Given the description of an element on the screen output the (x, y) to click on. 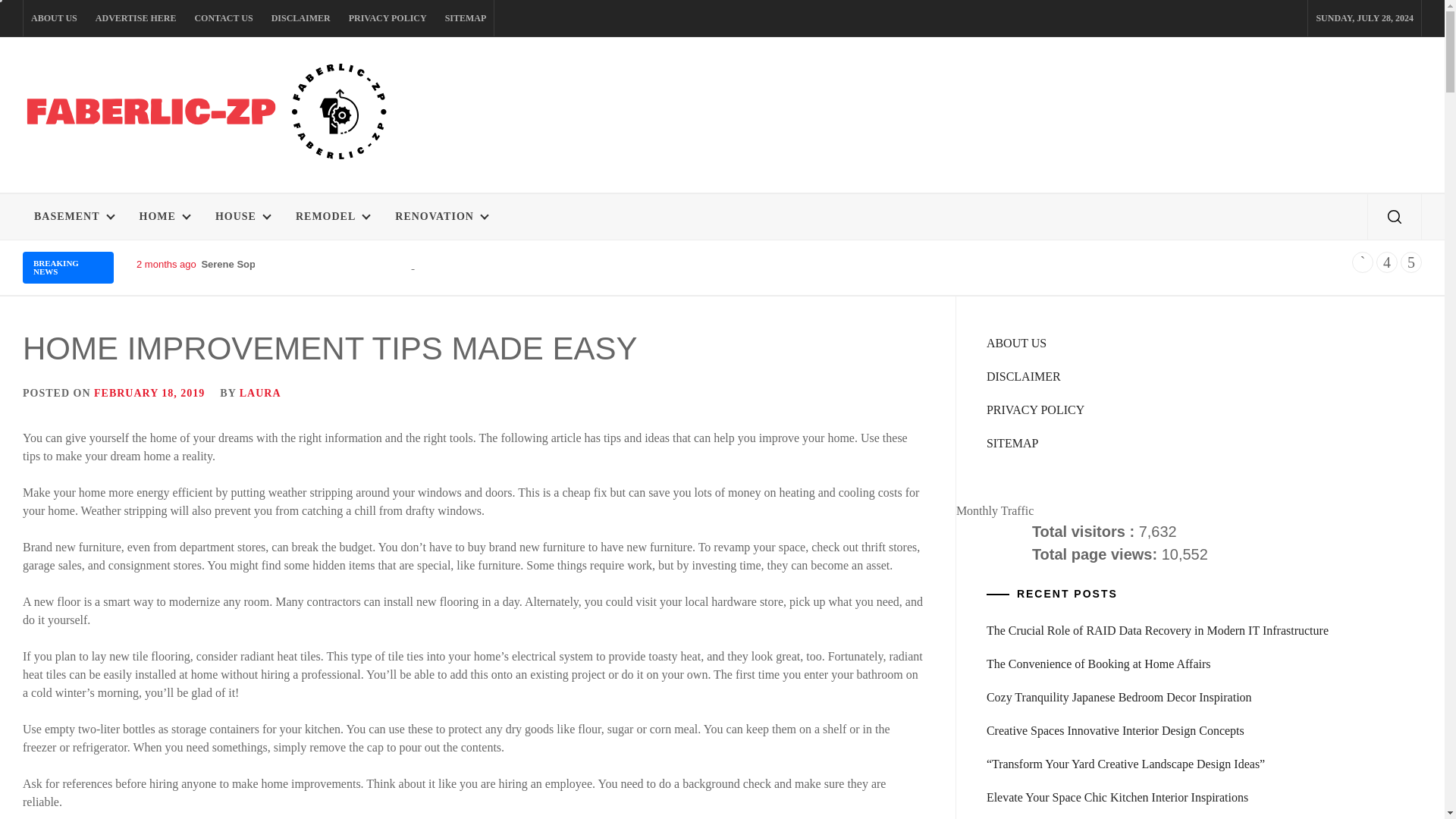
REMODEL (331, 216)
CONTACT US (223, 18)
RENOVATION (441, 216)
FABERLIC-ZP (136, 191)
HOME (164, 216)
Search (797, 409)
SITEMAP (466, 18)
DISCLAIMER (300, 18)
ADVERTISE HERE (135, 18)
ABOUT US (53, 18)
PRIVACY POLICY (386, 18)
BASEMENT (74, 216)
HOUSE (242, 216)
